Given the description of an element on the screen output the (x, y) to click on. 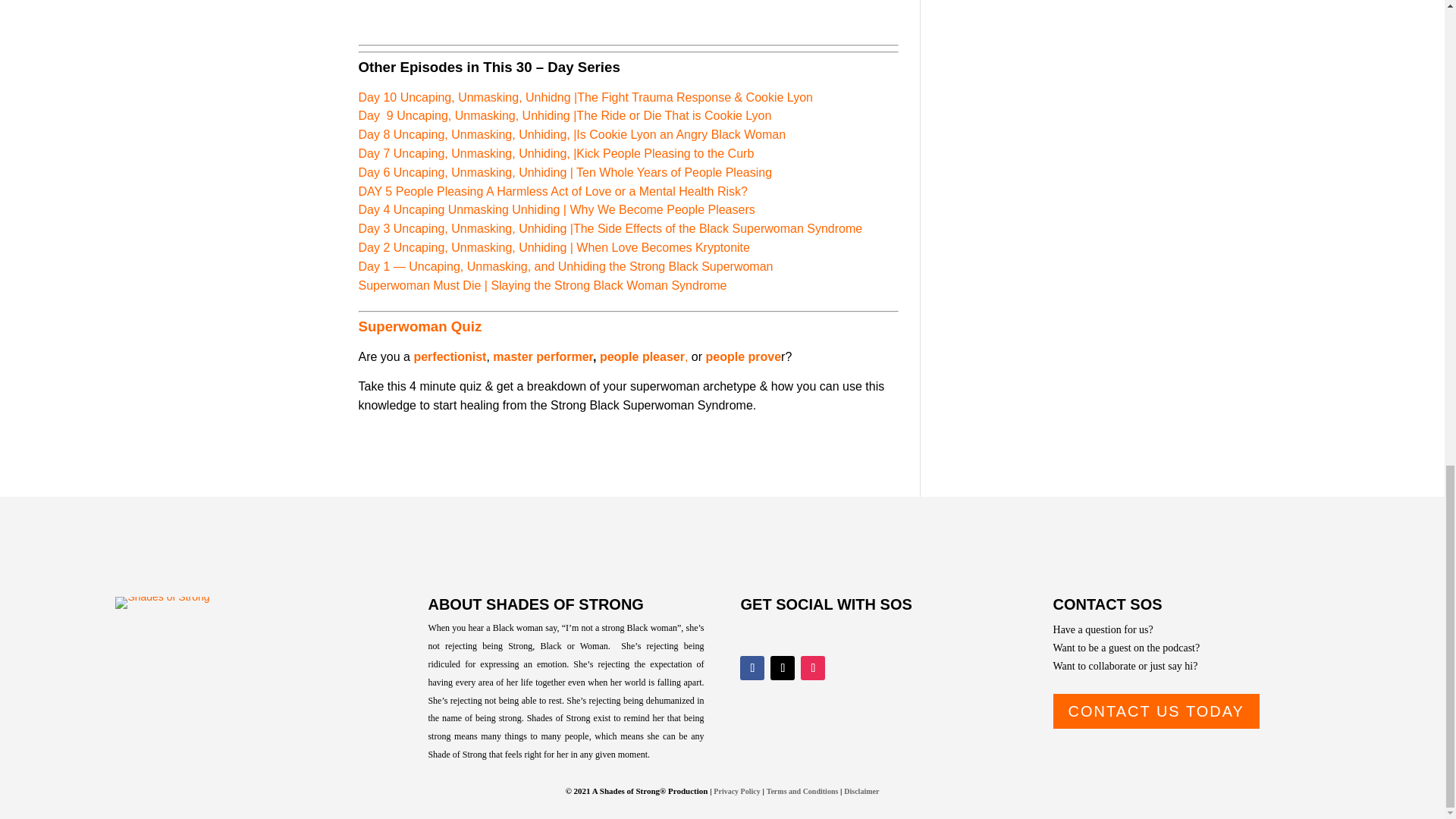
Follow on X (782, 668)
Blubrry Podcast Player (628, 16)
Privacy Policy (736, 791)
Day 2 (375, 246)
CONTACT US TODAY (1155, 710)
Follow on Facebook (751, 668)
Shades of Strong (162, 603)
Terms and Conditions (802, 791)
Follow on Instagram (812, 668)
